Given the description of an element on the screen output the (x, y) to click on. 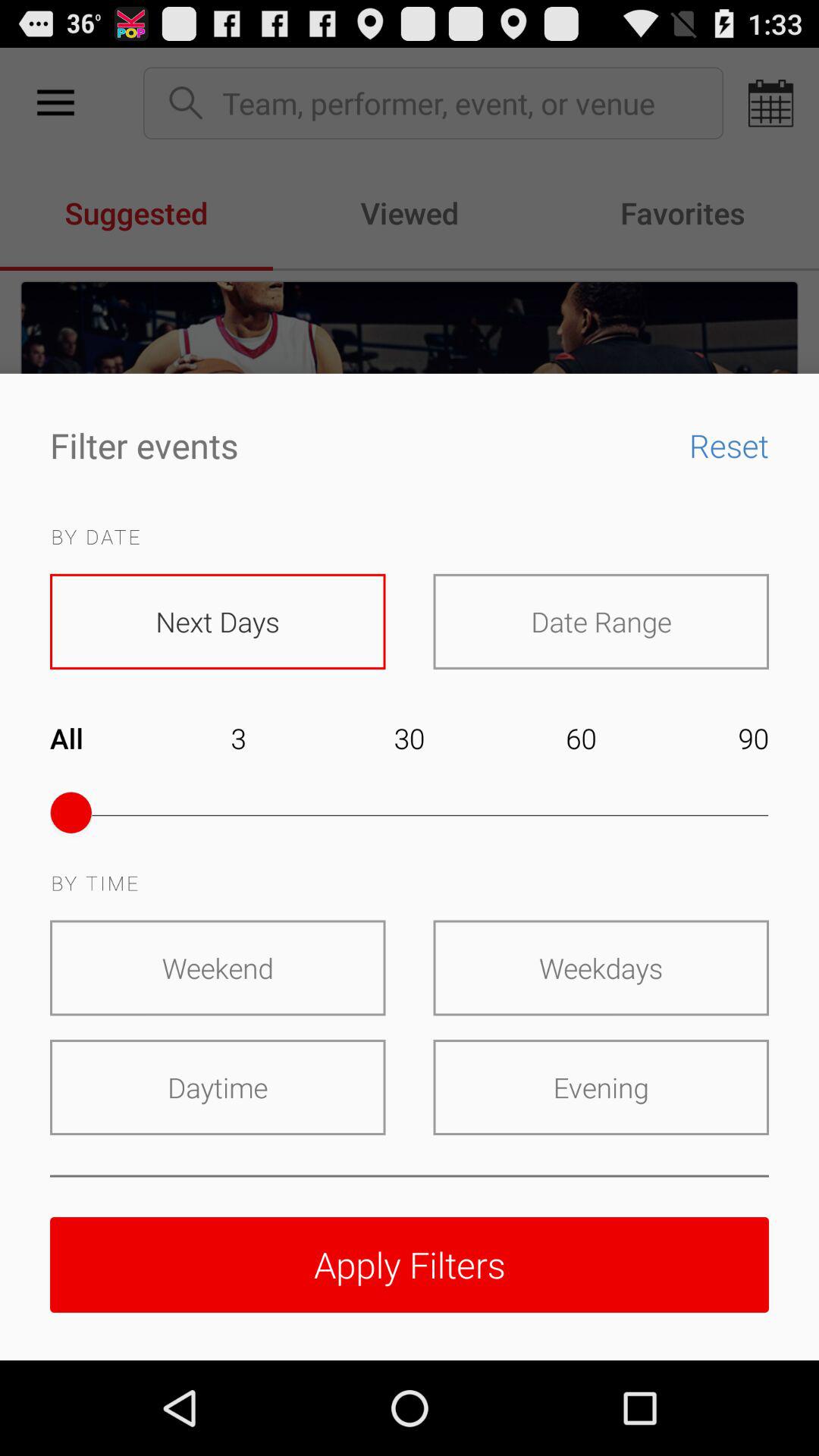
click icon next to the evening (217, 1087)
